Given the description of an element on the screen output the (x, y) to click on. 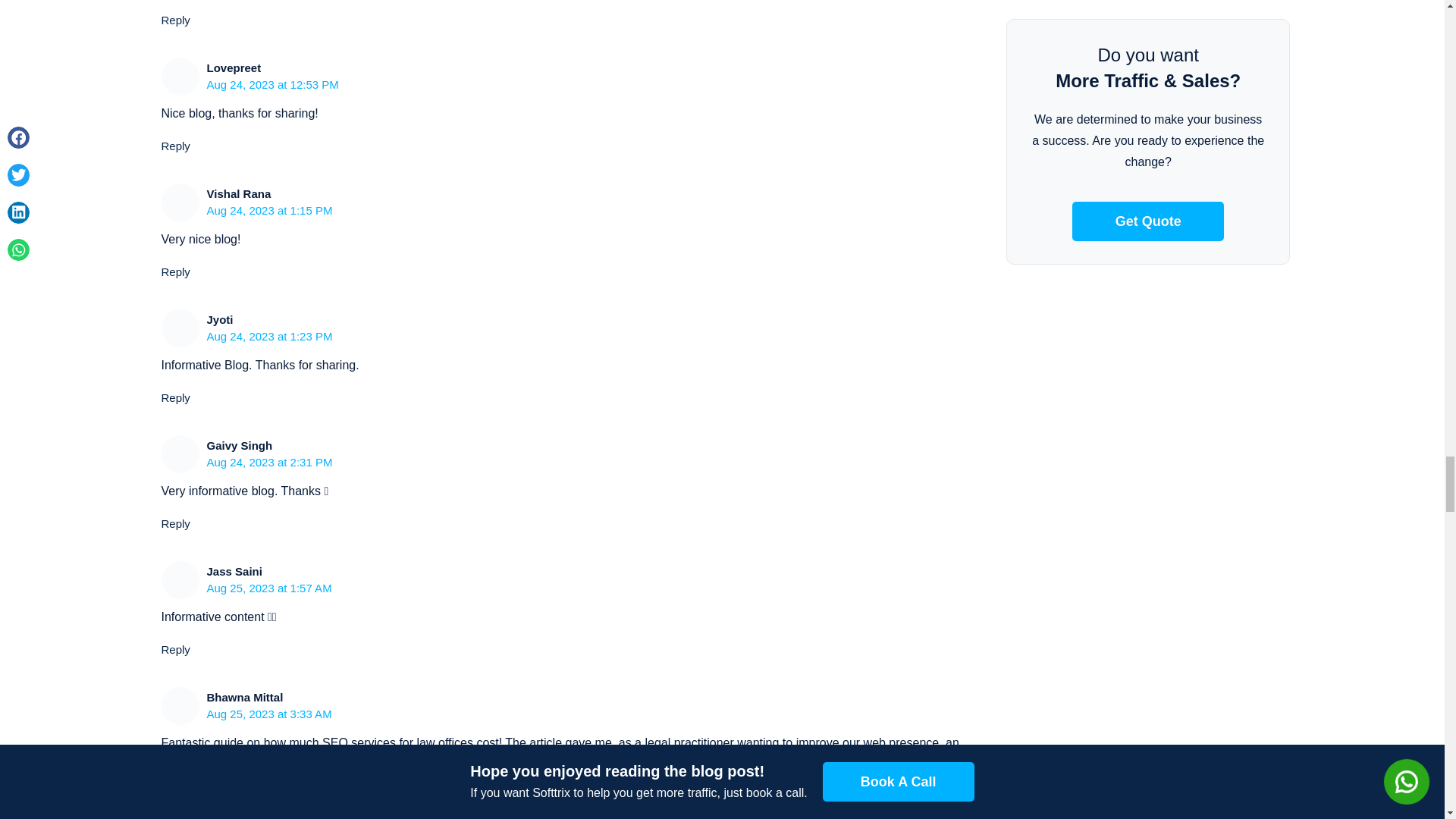
Reply (174, 397)
Reply (174, 19)
Reply (174, 796)
Reply (174, 271)
Reply (174, 522)
Reply (174, 145)
Reply (174, 649)
